Given the description of an element on the screen output the (x, y) to click on. 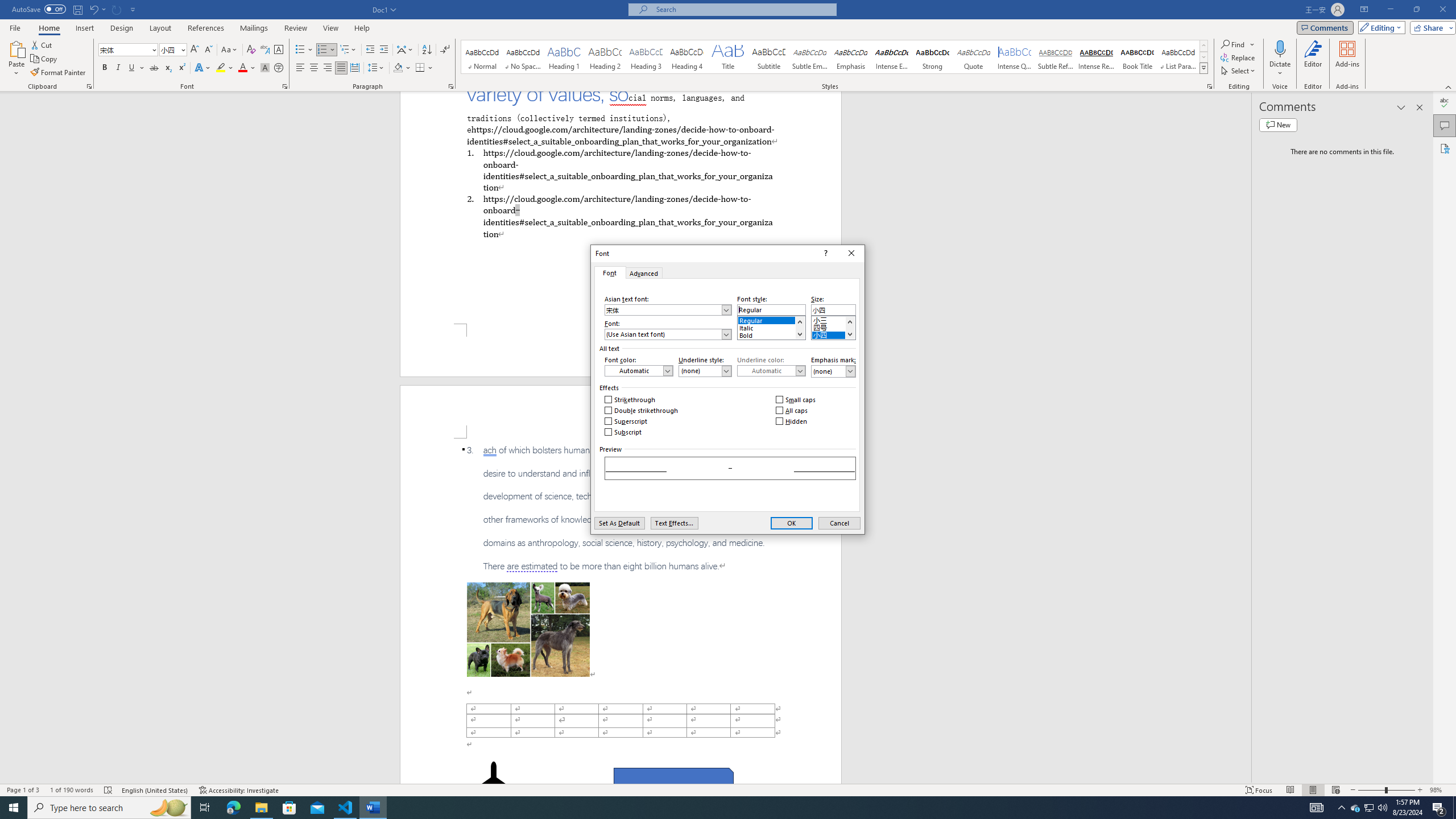
User Promoted Notification Area (1368, 807)
Zoom (1386, 790)
Type here to search (108, 807)
Justify (340, 67)
Text Effects... (673, 522)
Heading 2 (605, 56)
Context help (1355, 807)
Font (824, 253)
Collapse the Ribbon (124, 49)
Text Highlight Color (1448, 86)
Emphasis mark: (224, 67)
Find (833, 371)
Styles (1237, 44)
